Given the description of an element on the screen output the (x, y) to click on. 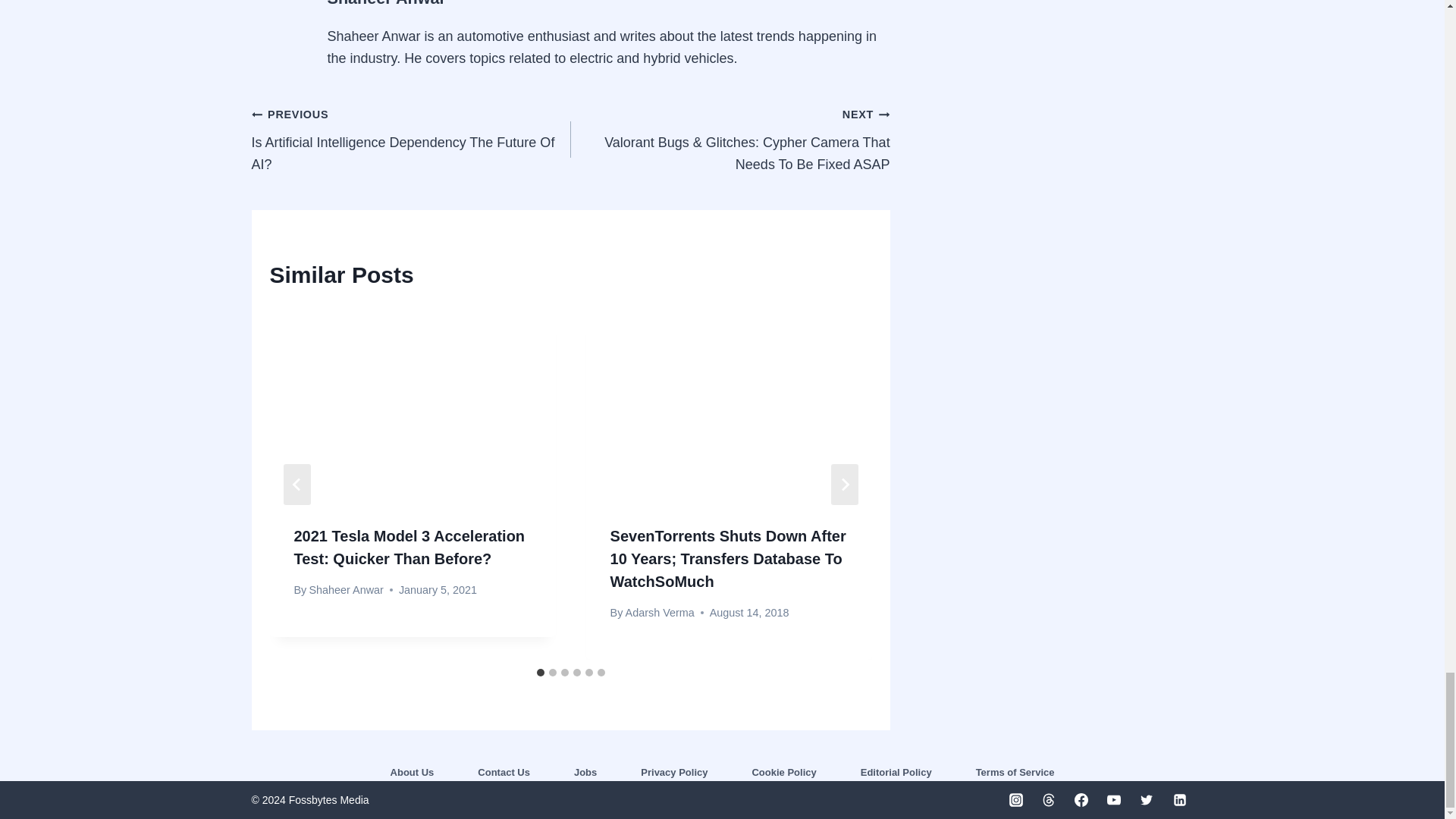
2021 Tesla Model 3 Acceleration Test: Quicker Than Before? (409, 547)
Posts by Shaheer Anwar (386, 3)
Shaheer Anwar (345, 589)
Adarsh Verma (660, 612)
Shaheer Anwar (386, 3)
